Given the description of an element on the screen output the (x, y) to click on. 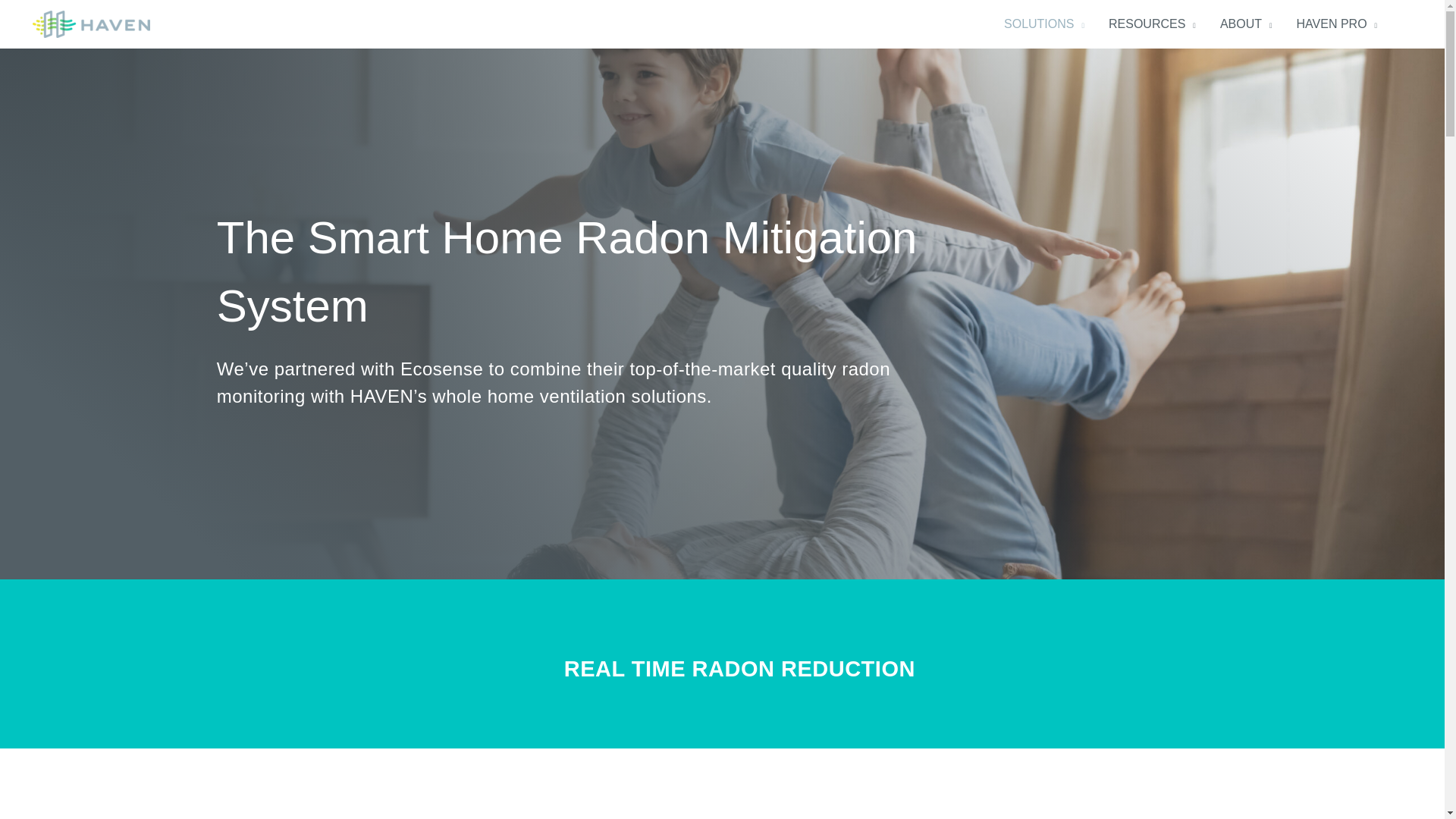
HAVEN PRO (1337, 24)
RESOURCES (1152, 24)
SOLUTIONS (1043, 24)
ABOUT (1246, 24)
